Given the description of an element on the screen output the (x, y) to click on. 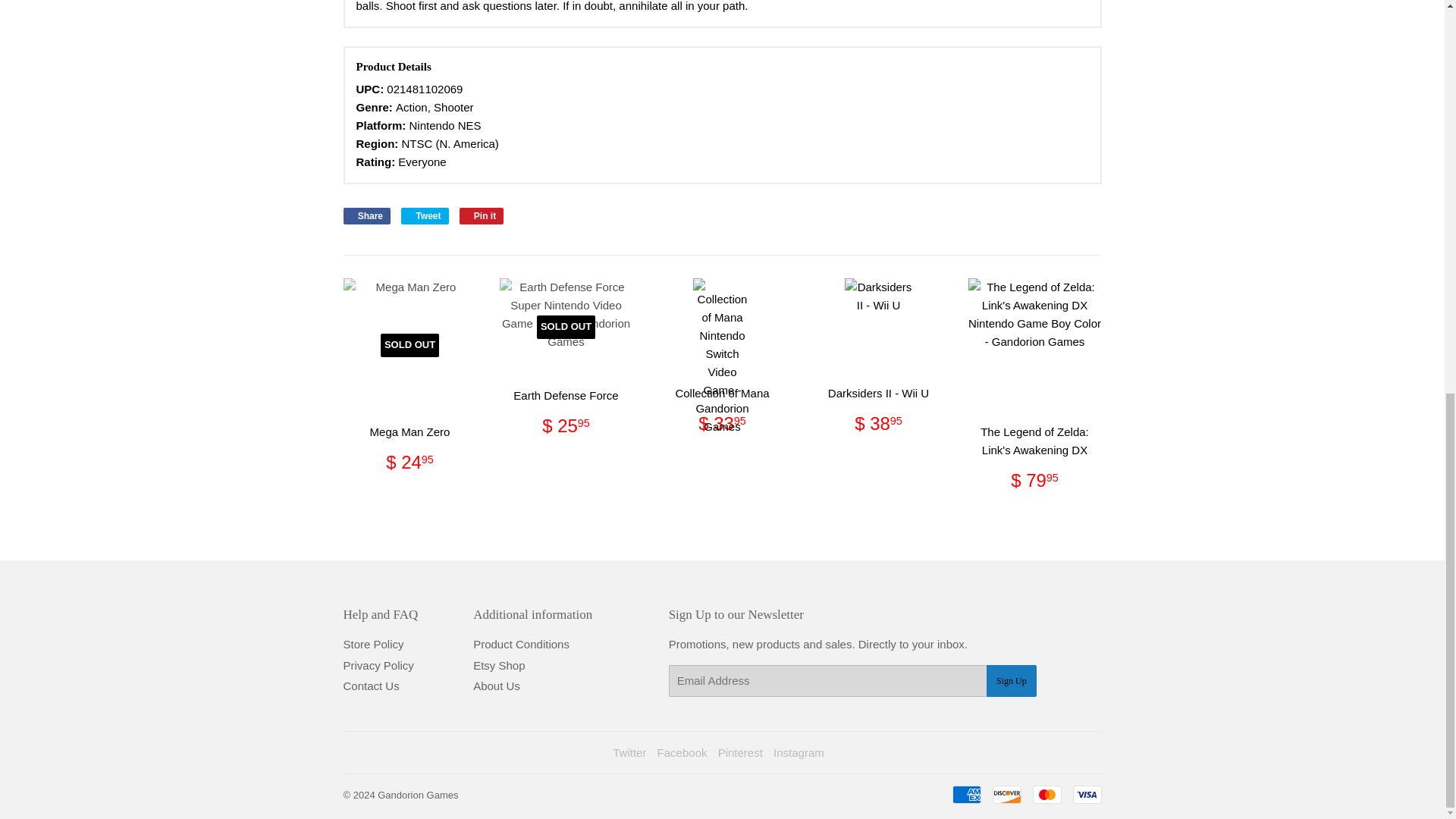
Discover (1005, 794)
Gandorion Games on Facebook (682, 752)
Share on Facebook (366, 216)
Tweet on Twitter (424, 216)
American Express (966, 794)
Mastercard (1046, 794)
Visa (1085, 794)
Gandorion Games on Twitter (629, 752)
Gandorion Games on Pinterest (739, 752)
Pin on Pinterest (481, 216)
